Given the description of an element on the screen output the (x, y) to click on. 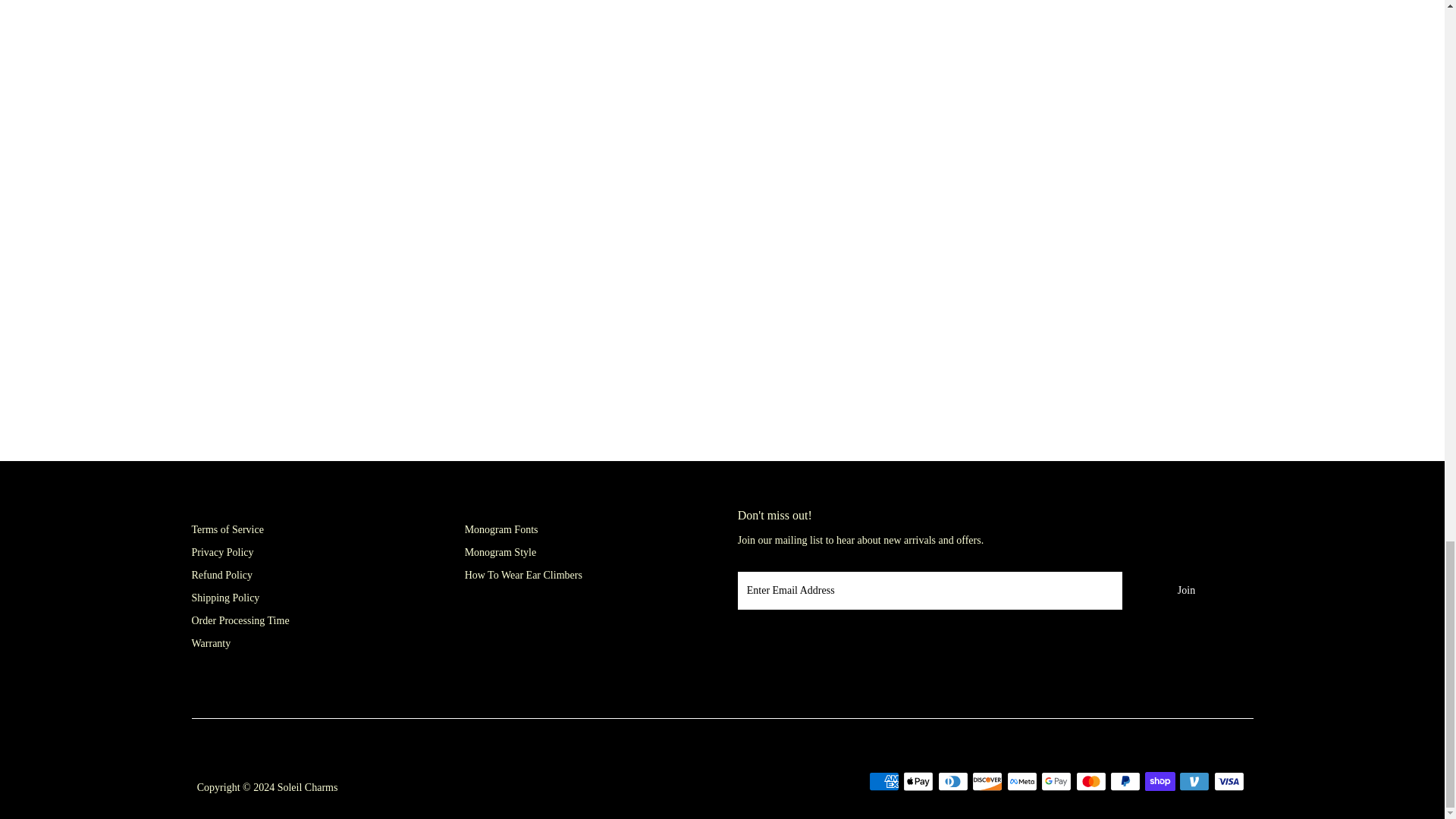
Diners Club (952, 781)
American Express (884, 781)
Venmo (1194, 781)
Meta Pay (1021, 781)
Join (1186, 590)
Google Pay (1056, 781)
Discover (987, 781)
PayPal (1124, 781)
Apple Pay (917, 781)
Shop Pay (1159, 781)
Visa (1229, 781)
Mastercard (1090, 781)
